Given the description of an element on the screen output the (x, y) to click on. 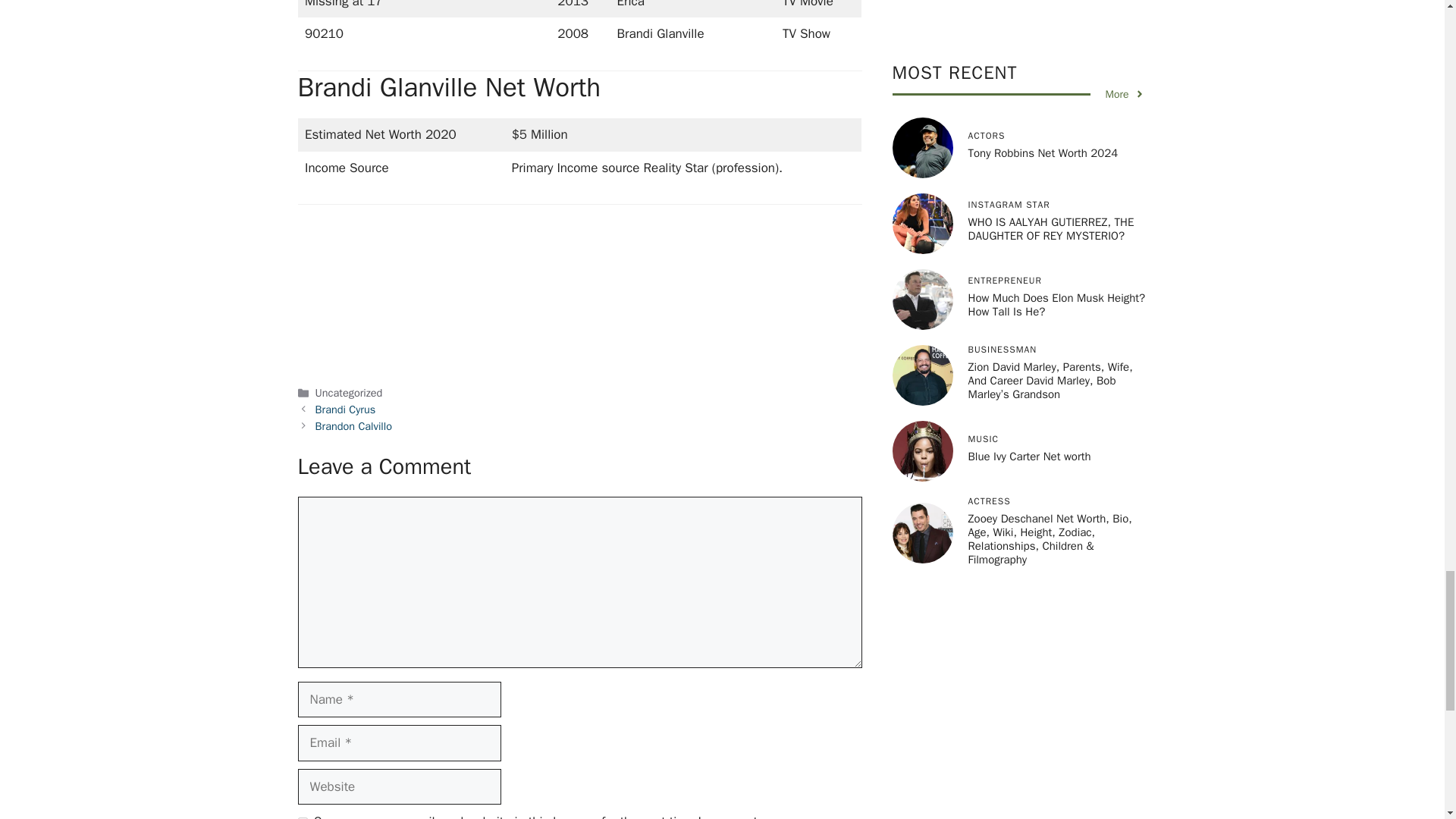
Brandi Cyrus (345, 409)
Brandon Calvillo (353, 425)
